Given the description of an element on the screen output the (x, y) to click on. 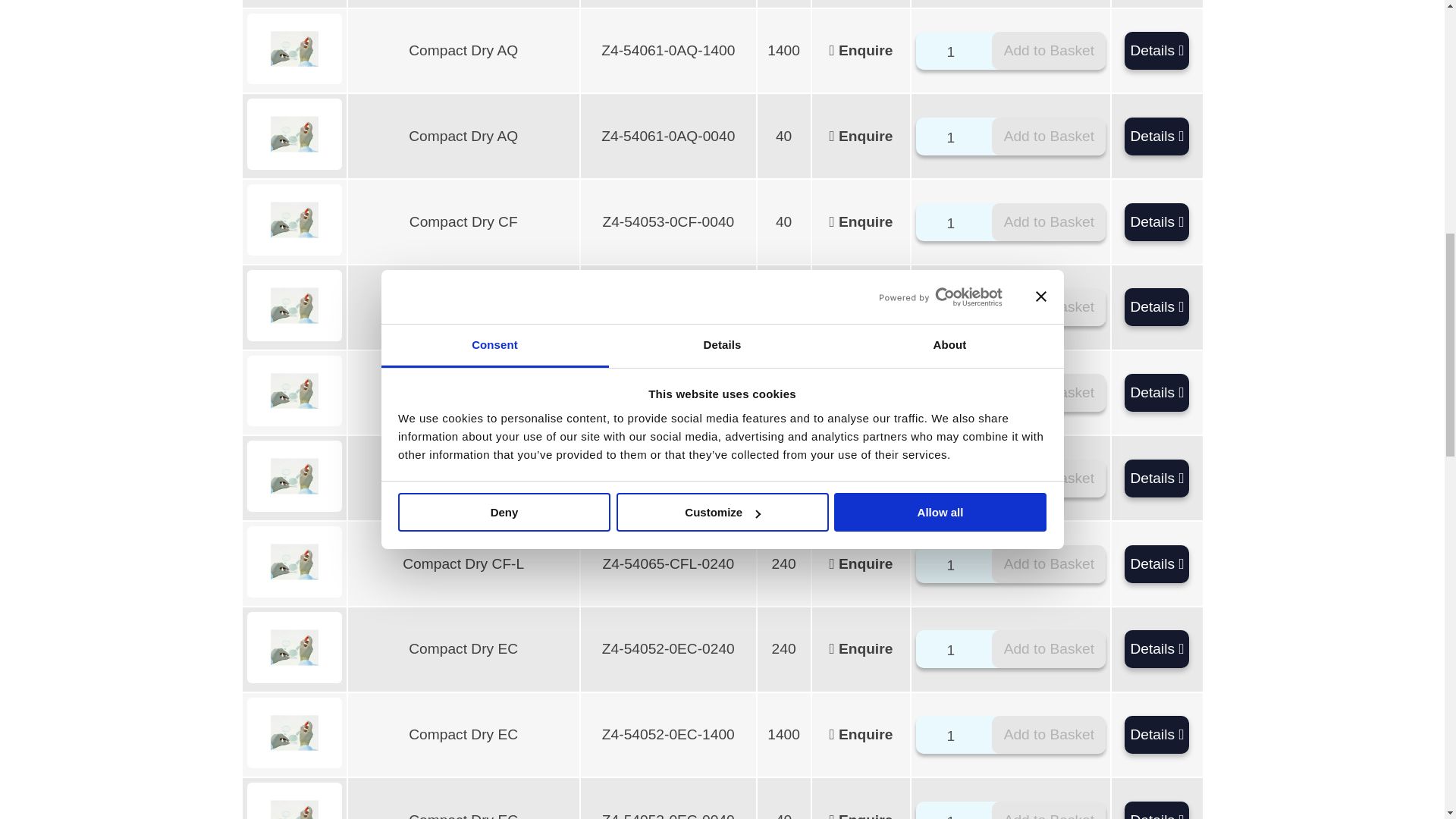
1 (956, 394)
1 (956, 223)
Add to Basket (1048, 136)
1 (956, 650)
Add to Basket (1048, 648)
Add to Basket (1048, 306)
1 (956, 479)
Add to Basket (1048, 221)
1 (956, 137)
1 (956, 308)
